Given the description of an element on the screen output the (x, y) to click on. 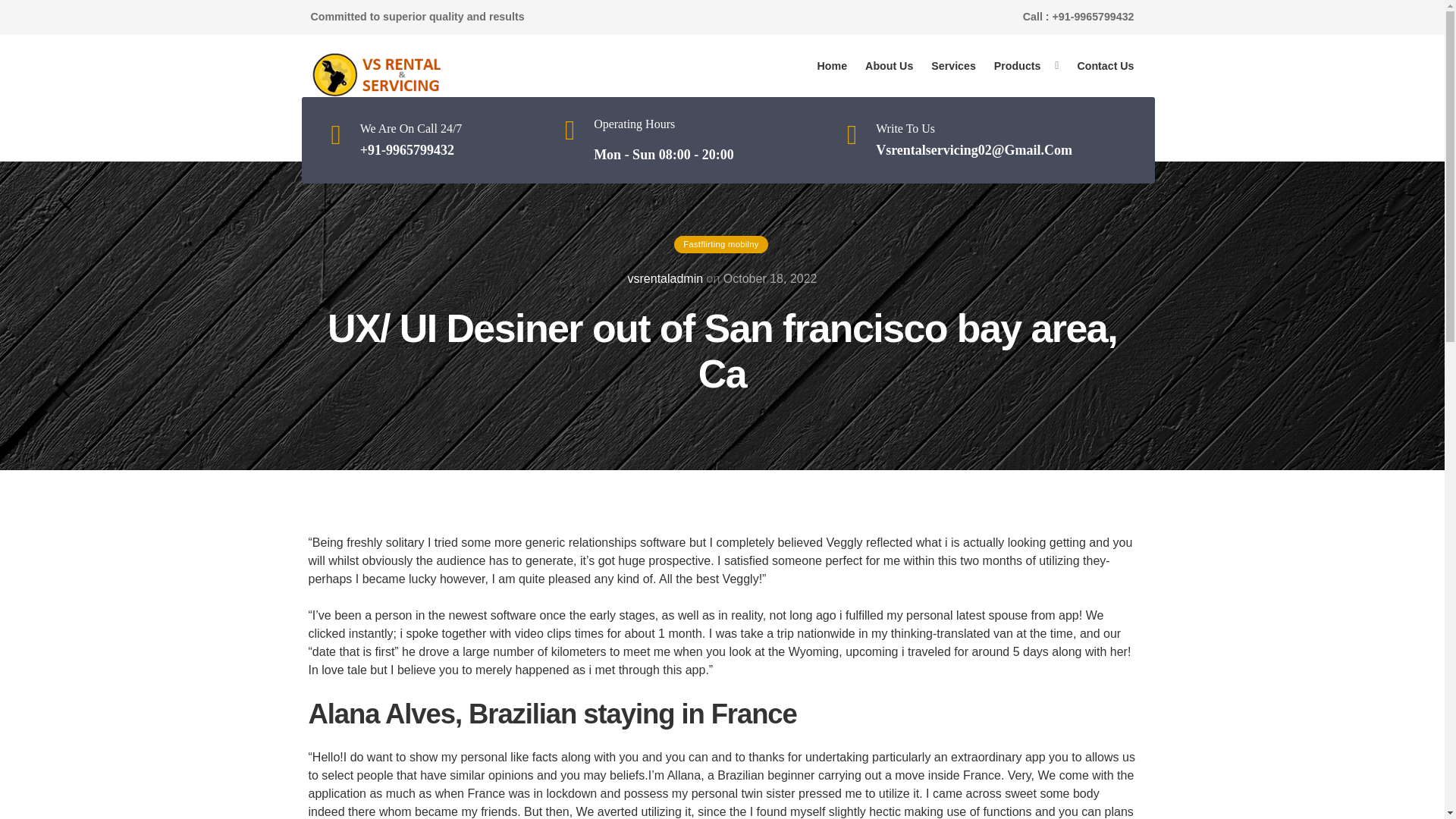
Products (1017, 66)
Home (832, 66)
About Us (888, 66)
Services (953, 66)
Contact Us (1104, 66)
vsrentaladmin (665, 278)
Visit Author Posts (665, 278)
Fastflirting mobilny (721, 244)
